Given the description of an element on the screen output the (x, y) to click on. 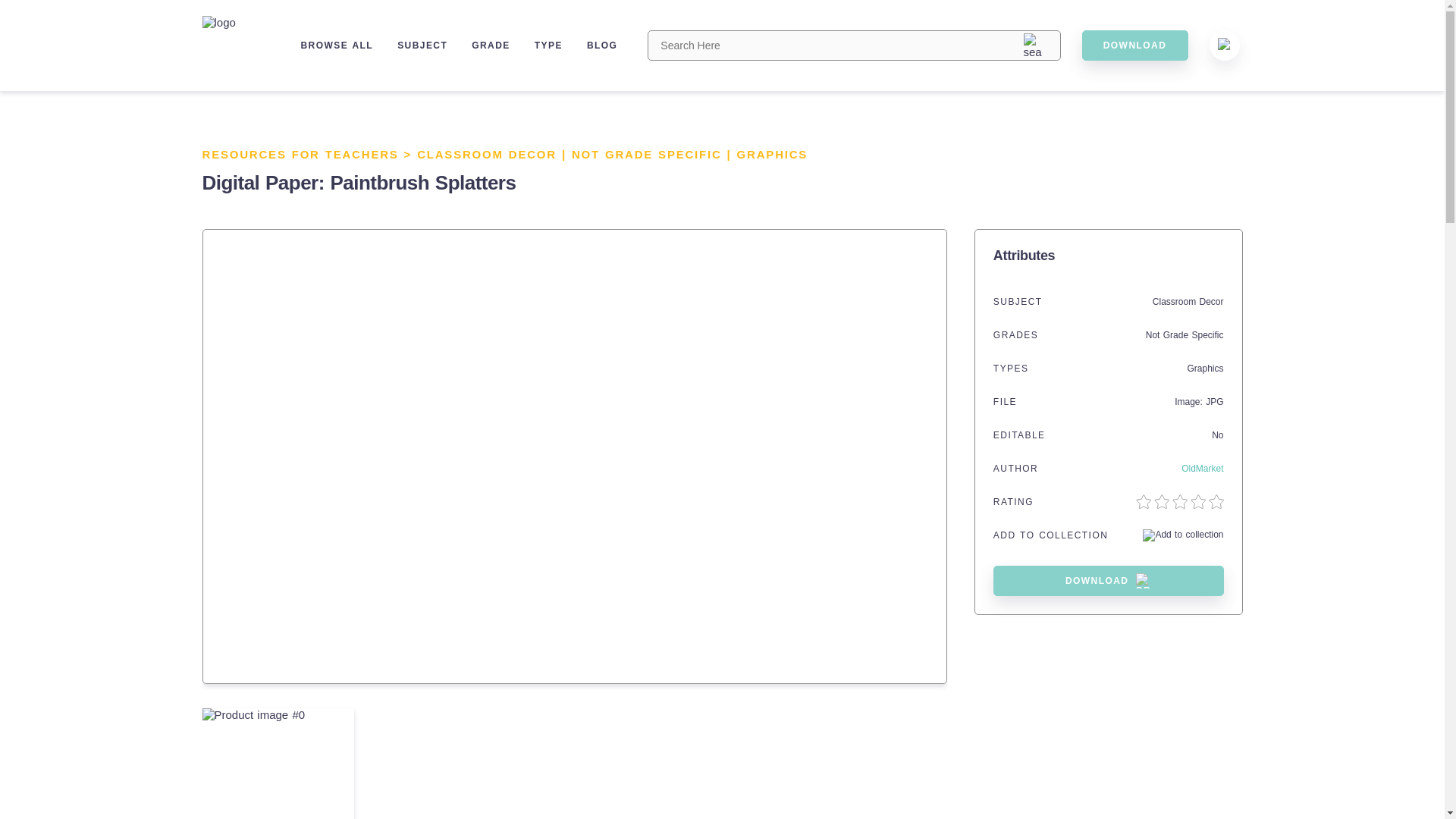
DOWNLOAD (1108, 580)
CLASSROOM DECOR (486, 154)
Image: JPG (1198, 401)
NOT GRADE SPECIFIC (647, 154)
Graphics (1204, 368)
OldMarket (1201, 468)
GRAPHICS (772, 154)
BLOG (601, 45)
Not Grade Specific (1184, 335)
RESOURCES FOR TEACHERS (299, 154)
Classroom Decor (1188, 301)
DOWNLOAD (1134, 45)
